Given the description of an element on the screen output the (x, y) to click on. 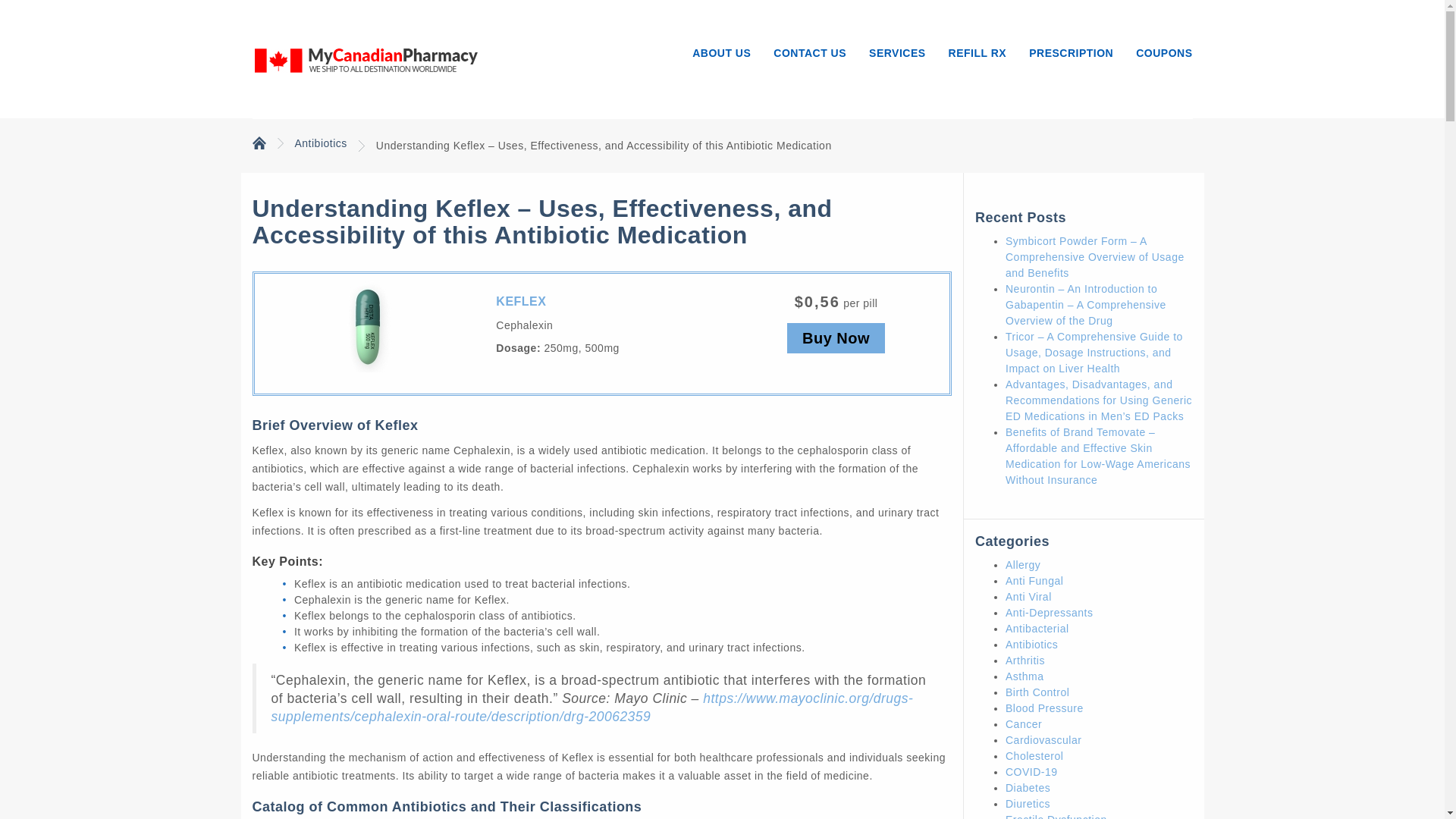
CONTACT US (809, 47)
Anti Fungal (1034, 580)
My Canadian Pharmacy Provides HealthCare Means (365, 58)
Go to My Canadian Pharmacy Provides HealthCare Means. (257, 141)
Go to the Antibiotics category archives. (320, 143)
Anti-Depressants (1049, 612)
Asthma (1024, 676)
Antibiotics (320, 143)
Allergy (1023, 564)
Buy Now (836, 337)
